Given the description of an element on the screen output the (x, y) to click on. 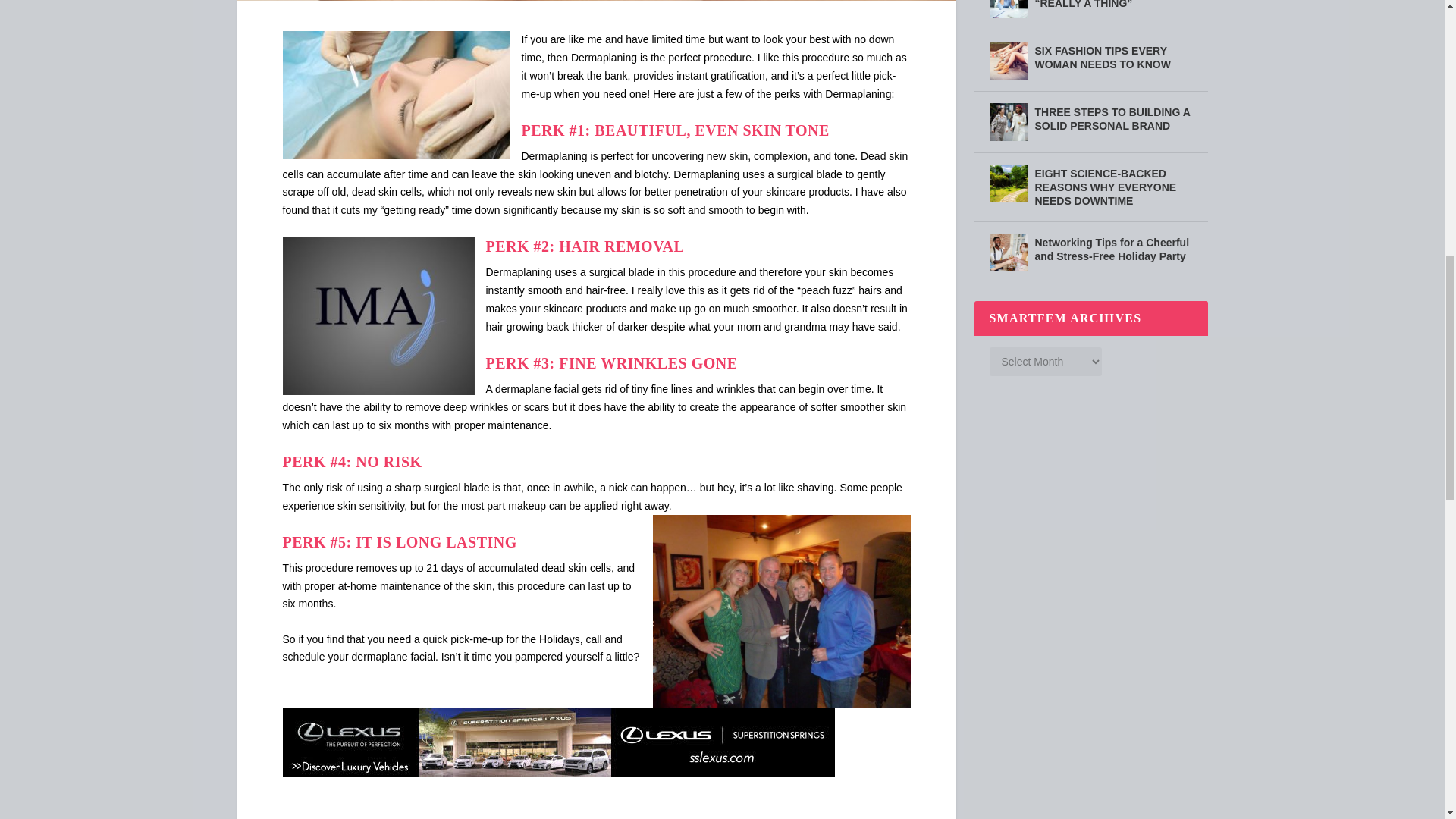
SS Lexus 728 (558, 742)
SS Lexus 728 (558, 772)
